Given the description of an element on the screen output the (x, y) to click on. 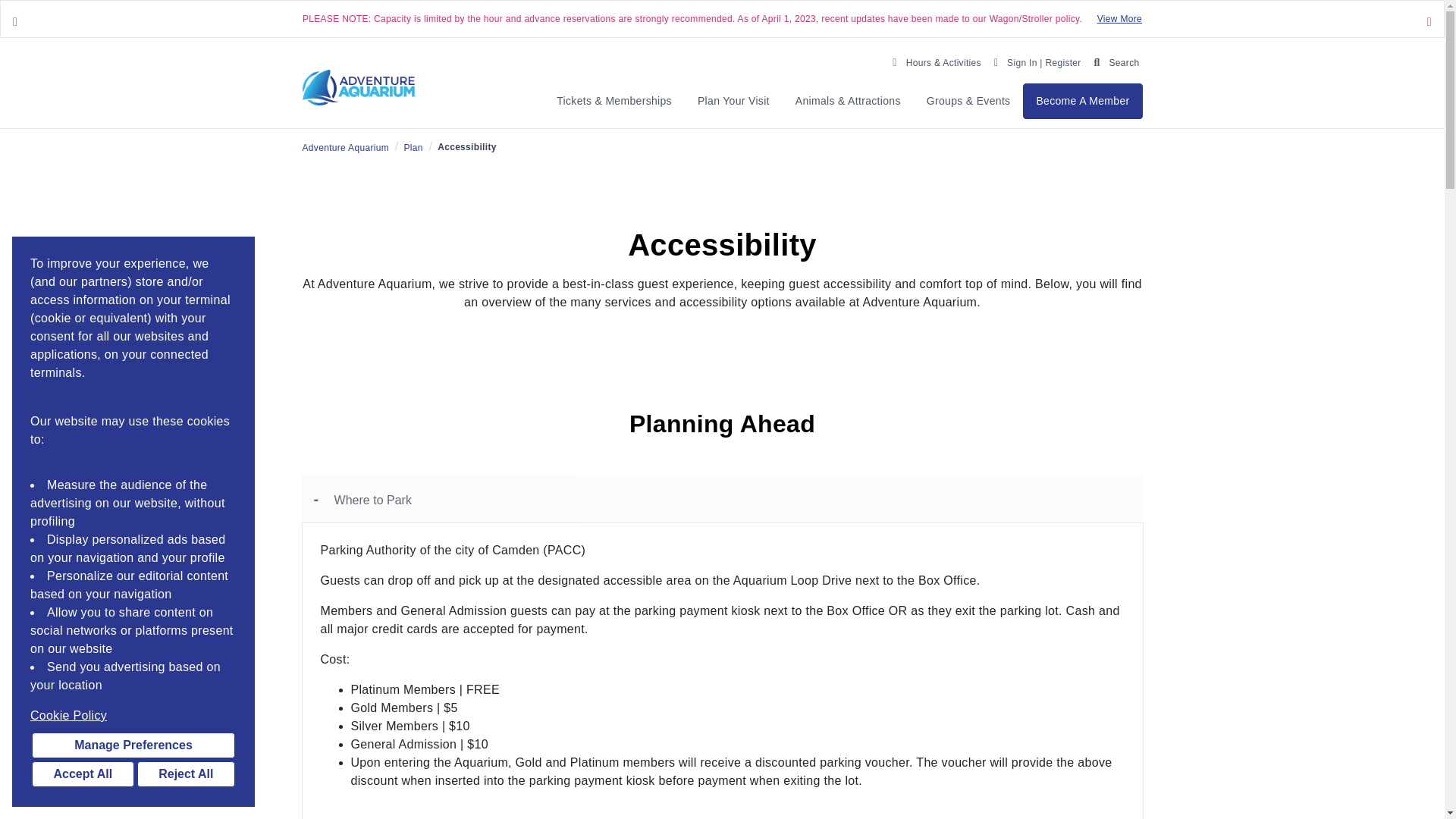
Search (1112, 61)
Accept All (82, 774)
Manage Preferences (133, 745)
View More (1119, 18)
Cookie Policy (132, 715)
Reject All (185, 774)
